Given the description of an element on the screen output the (x, y) to click on. 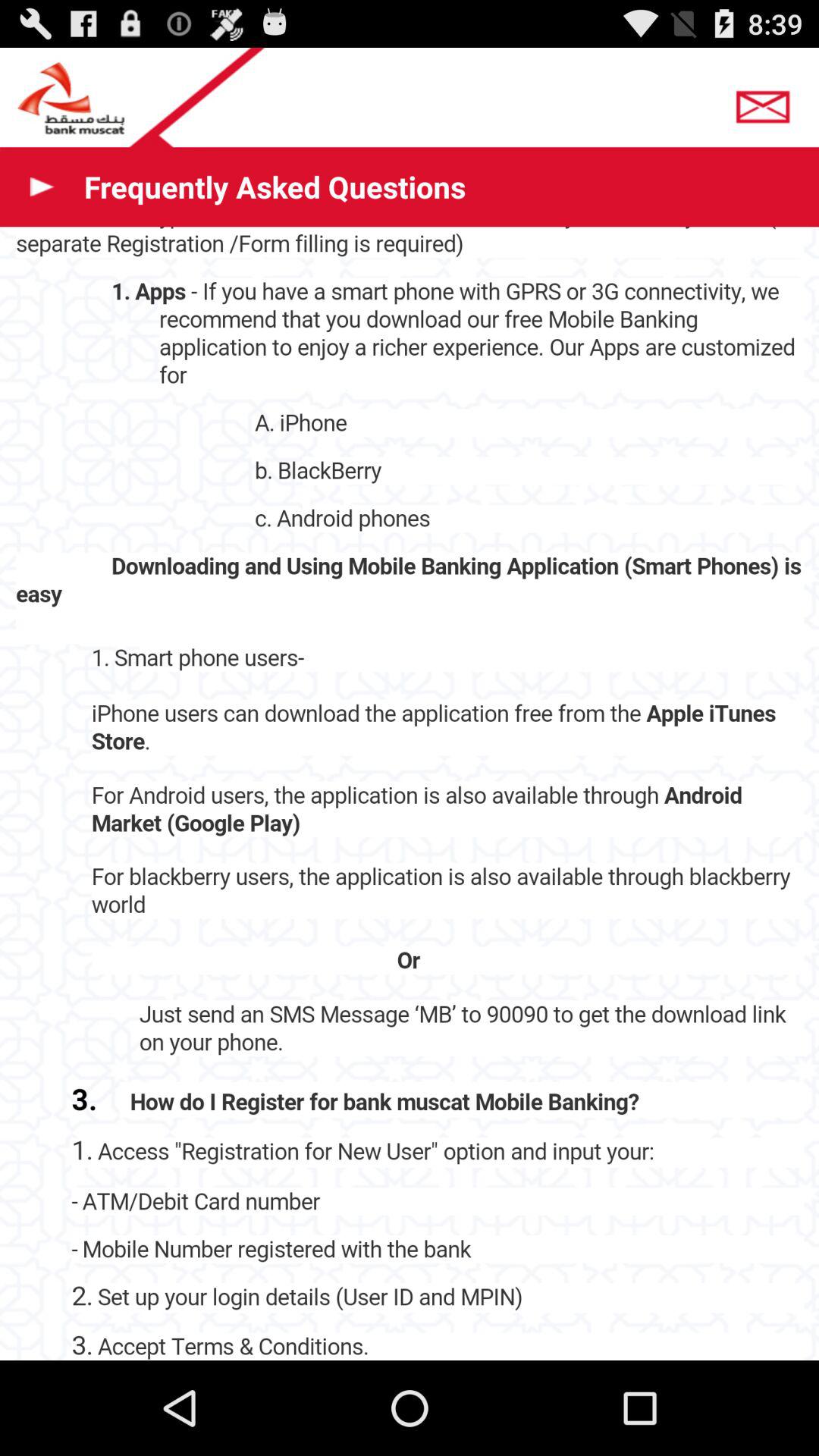
send an email (767, 101)
